Given the description of an element on the screen output the (x, y) to click on. 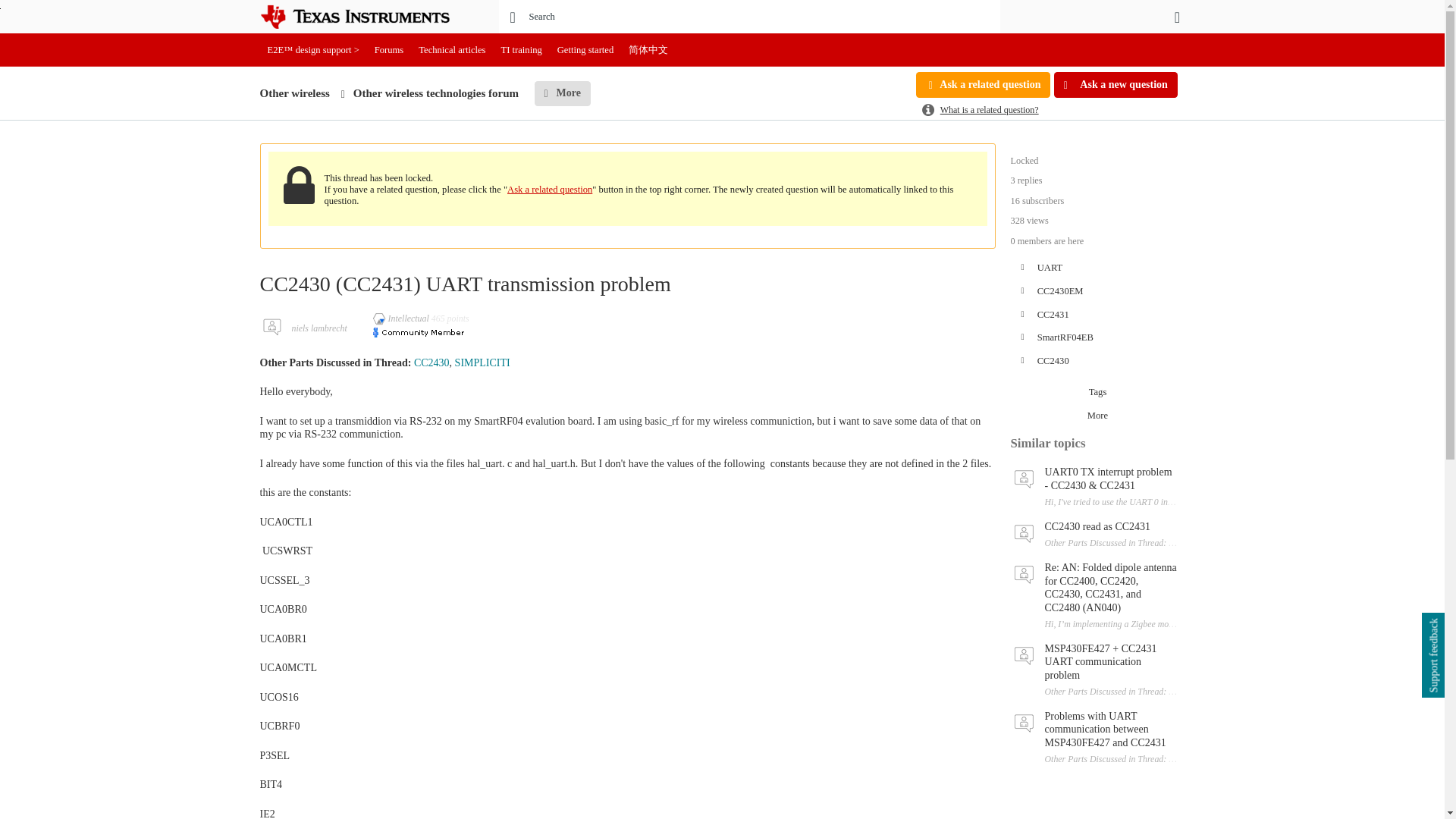
Getting started (585, 49)
Forums (389, 49)
Link to Product Folder (431, 362)
TI training (521, 49)
User (1177, 17)
Click here for explanation of levels (401, 317)
Link to Tool Folder (482, 362)
Home (365, 16)
Technical articles (451, 49)
Join or sign in (1177, 17)
